Given the description of an element on the screen output the (x, y) to click on. 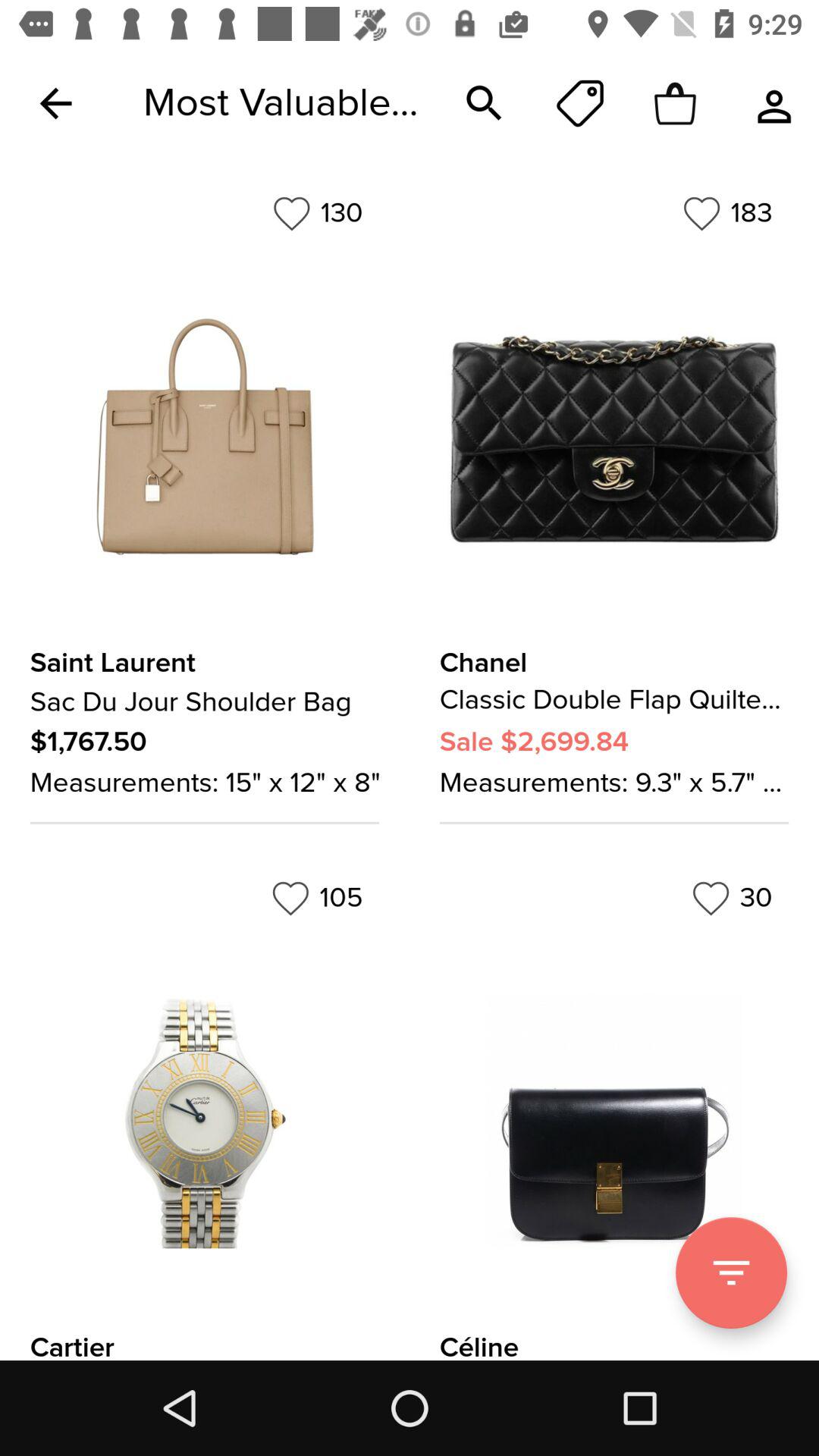
select the icon to the left of the 183 (317, 213)
